Given the description of an element on the screen output the (x, y) to click on. 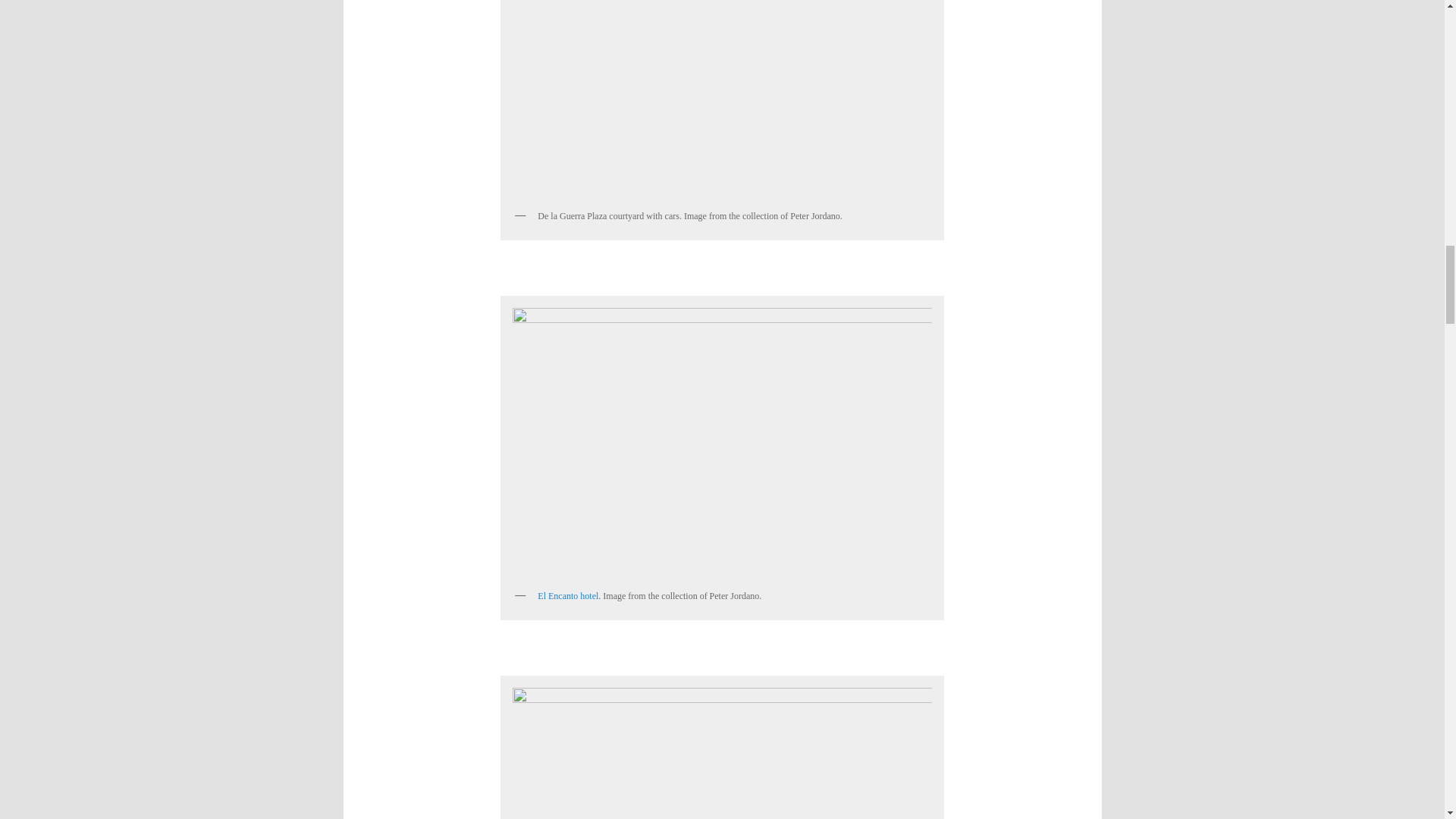
El Encanto hotel (567, 595)
